Given the description of an element on the screen output the (x, y) to click on. 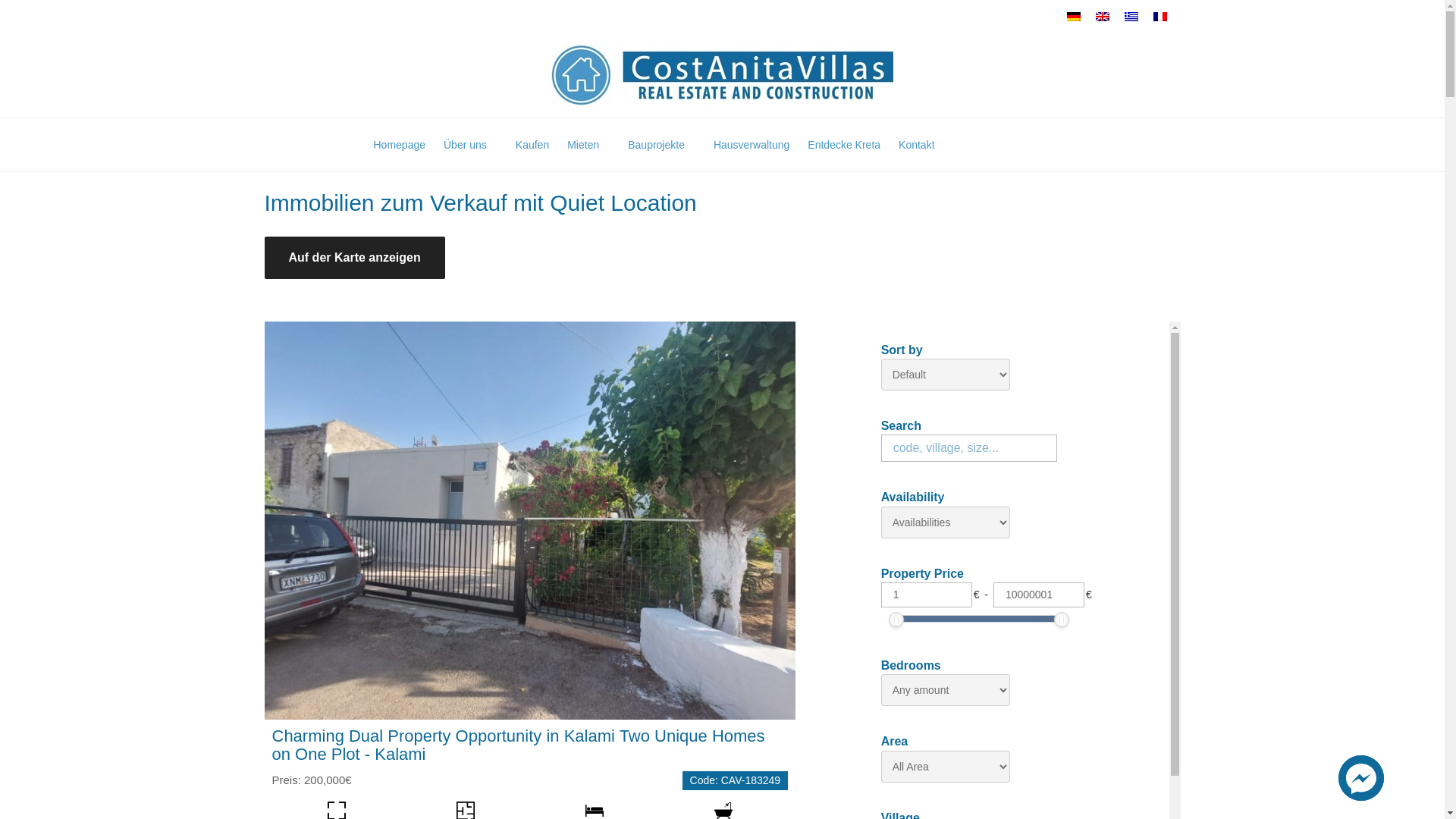
Kontakt (916, 144)
Hausverwaltung (750, 144)
1 (926, 594)
Auf der Karte anzeigen (353, 257)
Mieten (587, 144)
10000001 (1038, 594)
Bauprojekte (661, 144)
Kaufen (531, 144)
Entdecke Kreta (843, 144)
Homepage (398, 144)
